Given the description of an element on the screen output the (x, y) to click on. 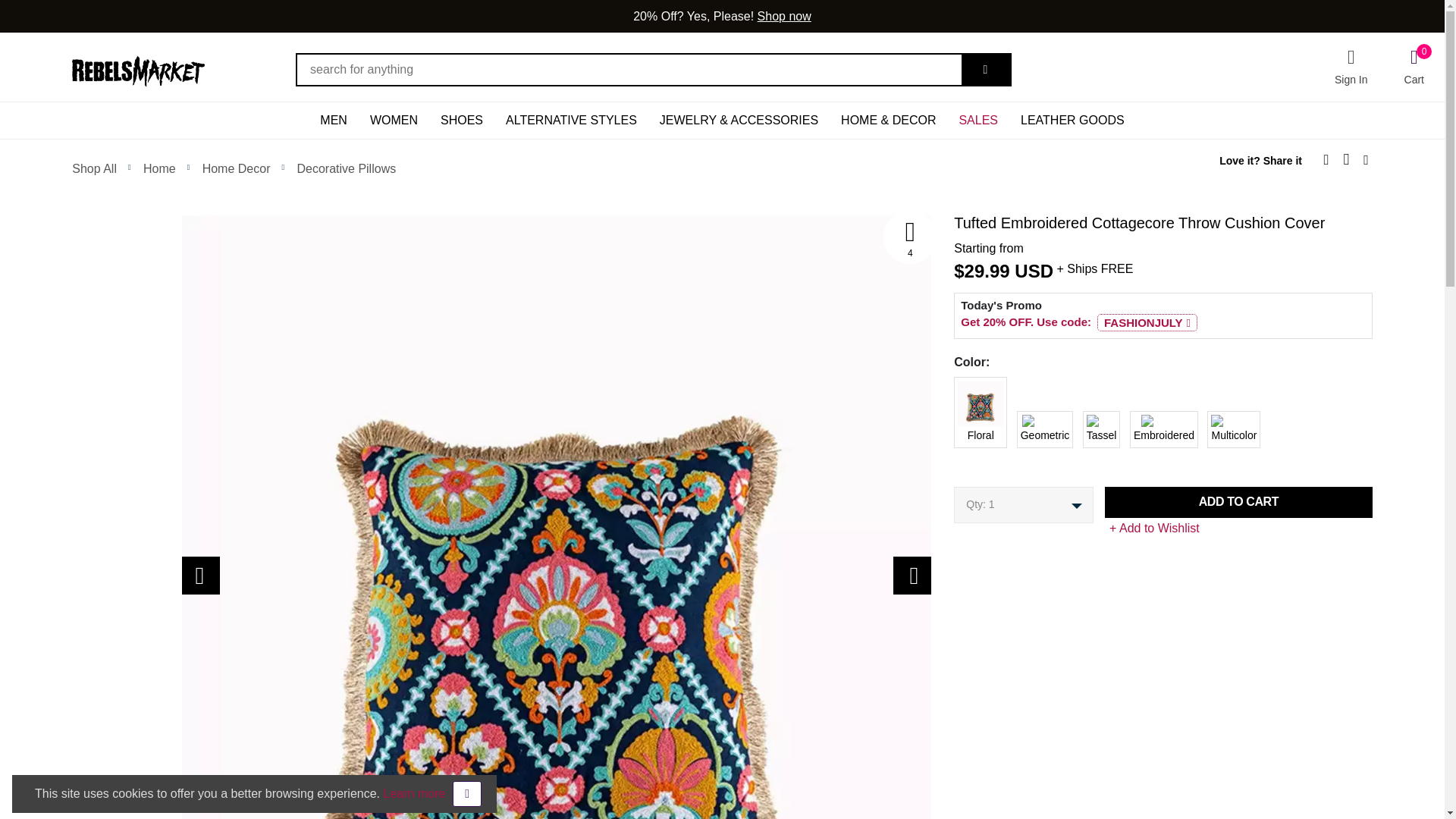
MEN (333, 119)
Tassel (949, 421)
Geometric (949, 421)
Embroidered (949, 421)
29.99 (986, 271)
Sign In (1351, 66)
USD (1033, 271)
Floral (949, 386)
Multicolor (949, 421)
WOMEN (393, 119)
